Given the description of an element on the screen output the (x, y) to click on. 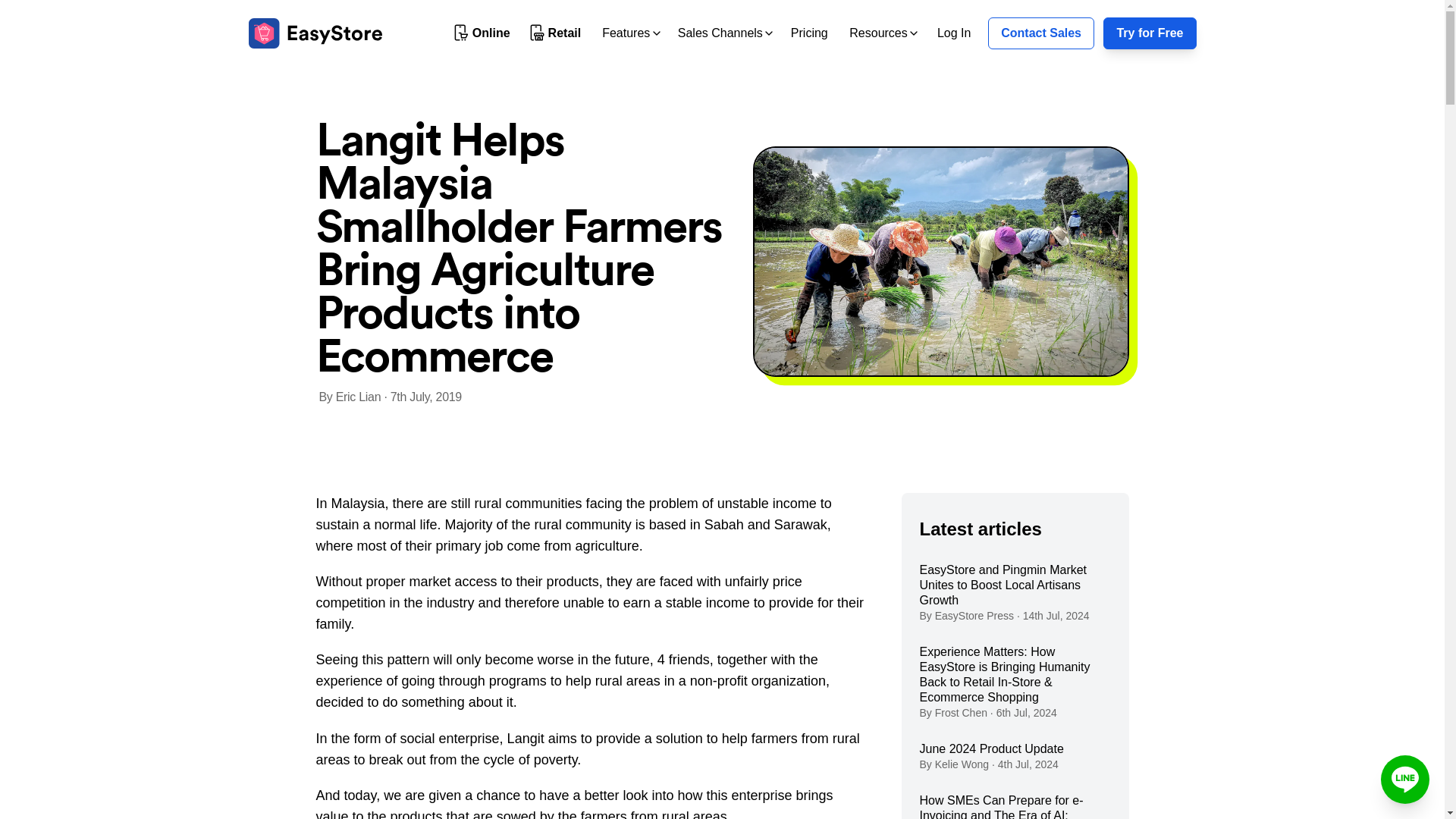
Pricing (809, 32)
Try for Free (1149, 33)
Retail (555, 33)
Online (483, 33)
Log In (954, 32)
Contact Sales (1041, 33)
